Given the description of an element on the screen output the (x, y) to click on. 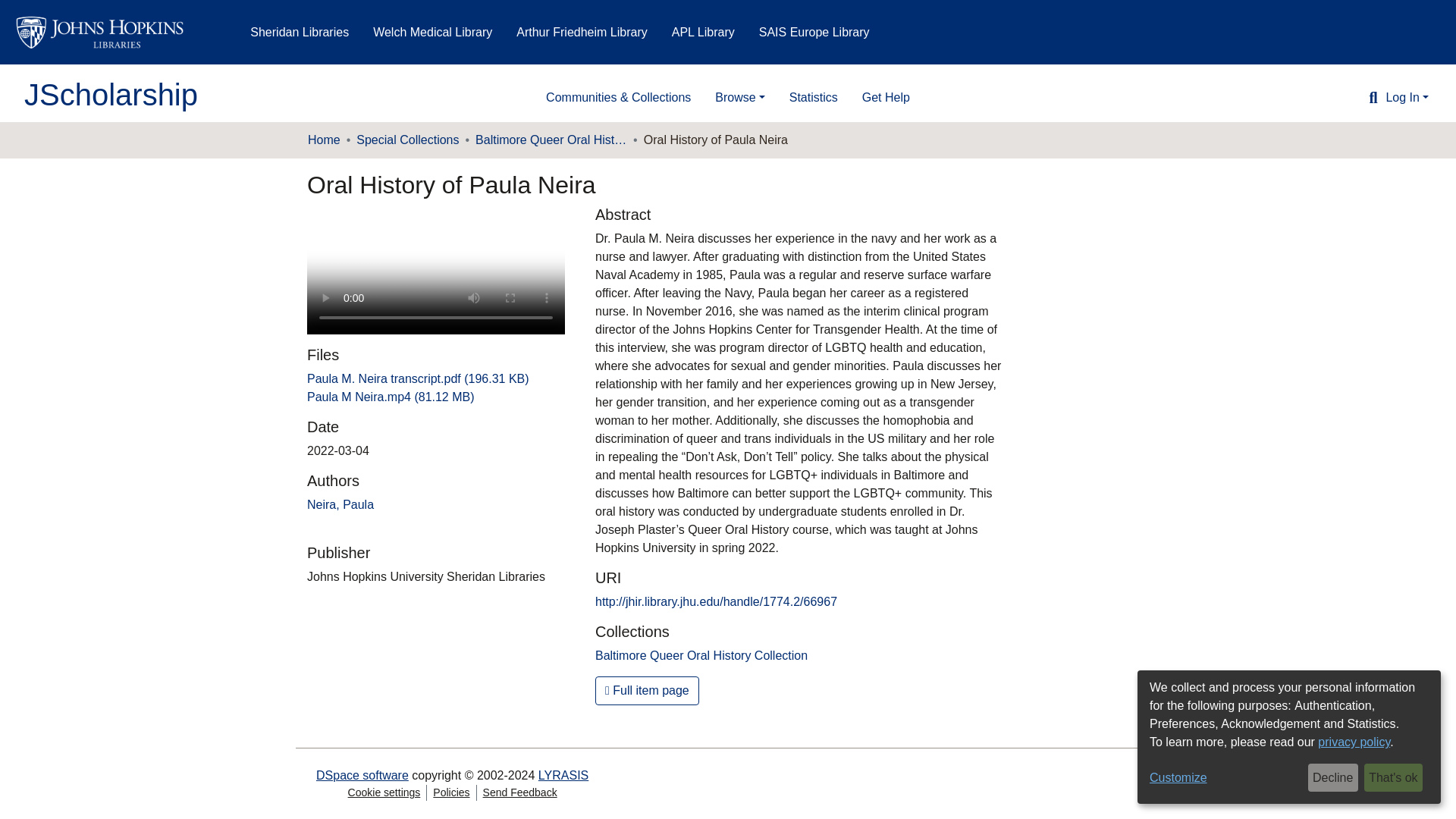
Download bitstream (418, 378)
Get Help (885, 97)
Cookie settings (384, 792)
Log In (1406, 97)
Sheridan Libraries (299, 31)
Statistics (813, 97)
Baltimore Queer Oral History Collection (551, 140)
APL Library (703, 31)
SAIS Europe Library (813, 31)
Arthur Friedheim Library (581, 31)
Welch Medical Library (432, 31)
DSpace software (362, 775)
Full item page (646, 690)
JScholarship (111, 94)
Policies (451, 792)
